Given the description of an element on the screen output the (x, y) to click on. 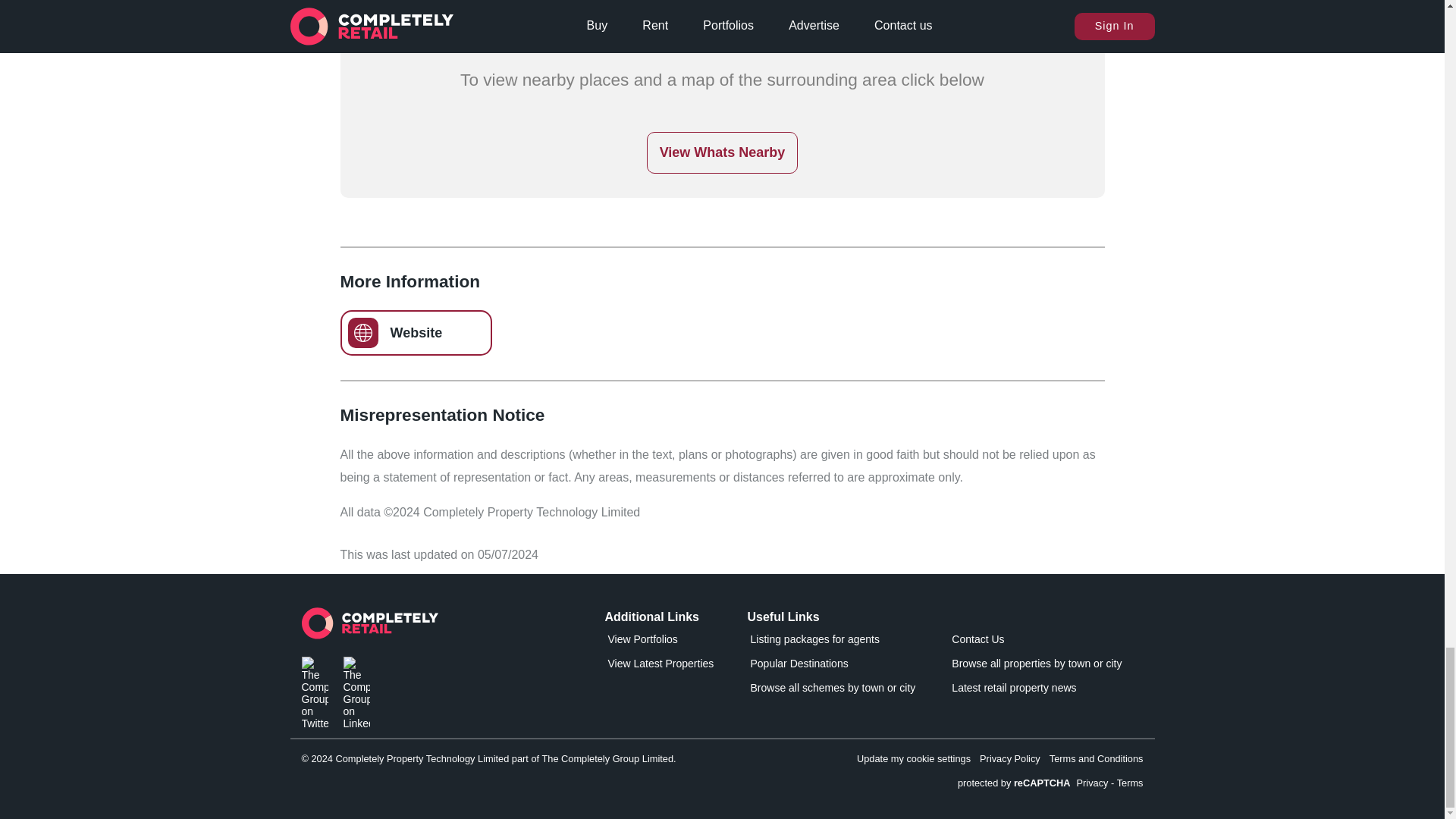
View Portfolios (673, 642)
Website (415, 332)
Completely Retail homepage (369, 627)
View Latest Properties (673, 666)
